Given the description of an element on the screen output the (x, y) to click on. 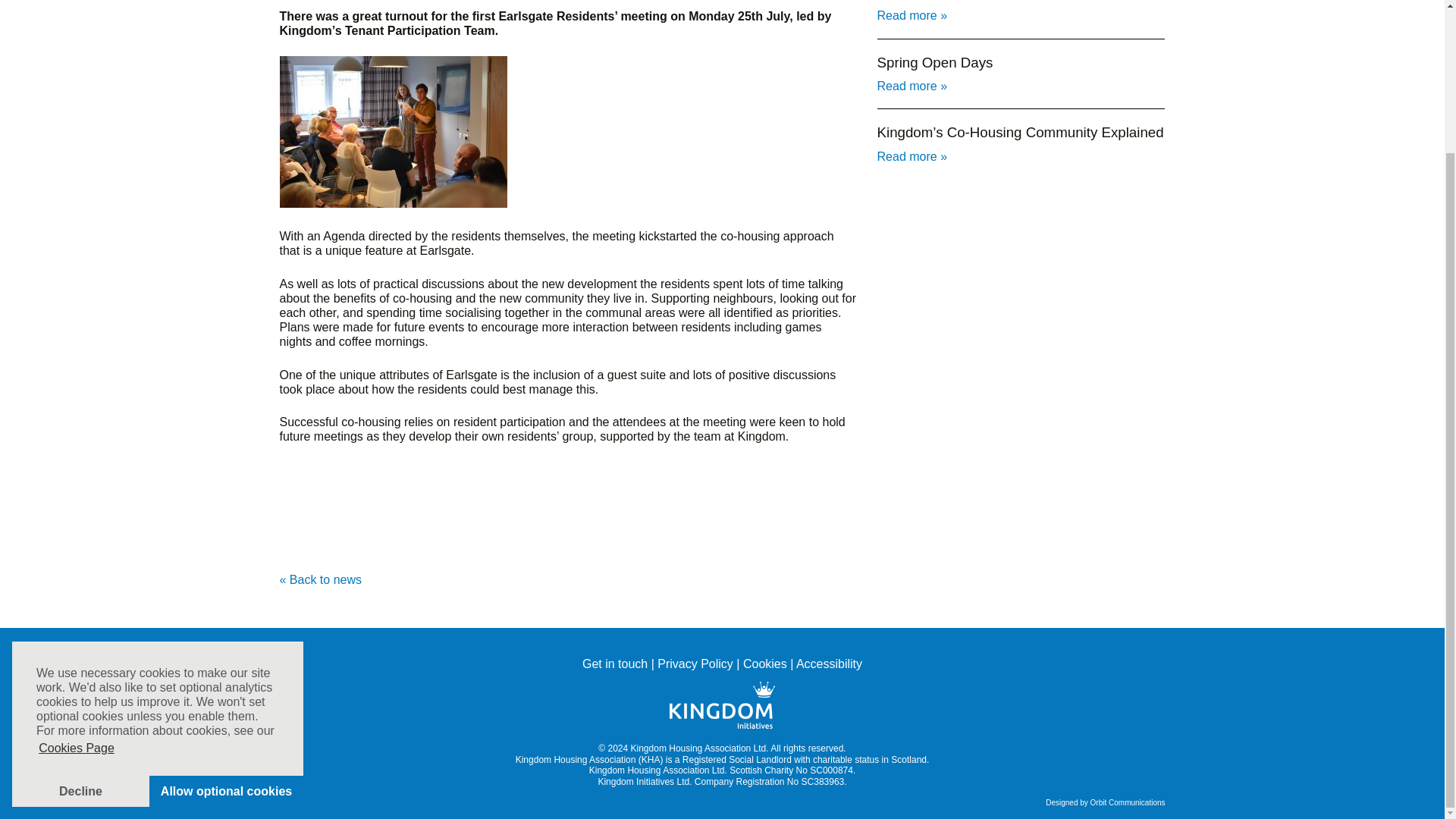
Allow optional cookies (225, 613)
Orbit Communications (1128, 802)
Decline (80, 613)
Get in touch (614, 663)
Privacy Policy (695, 663)
Accessibility (828, 663)
Cookies (764, 663)
Cookies Page (76, 570)
